Given the description of an element on the screen output the (x, y) to click on. 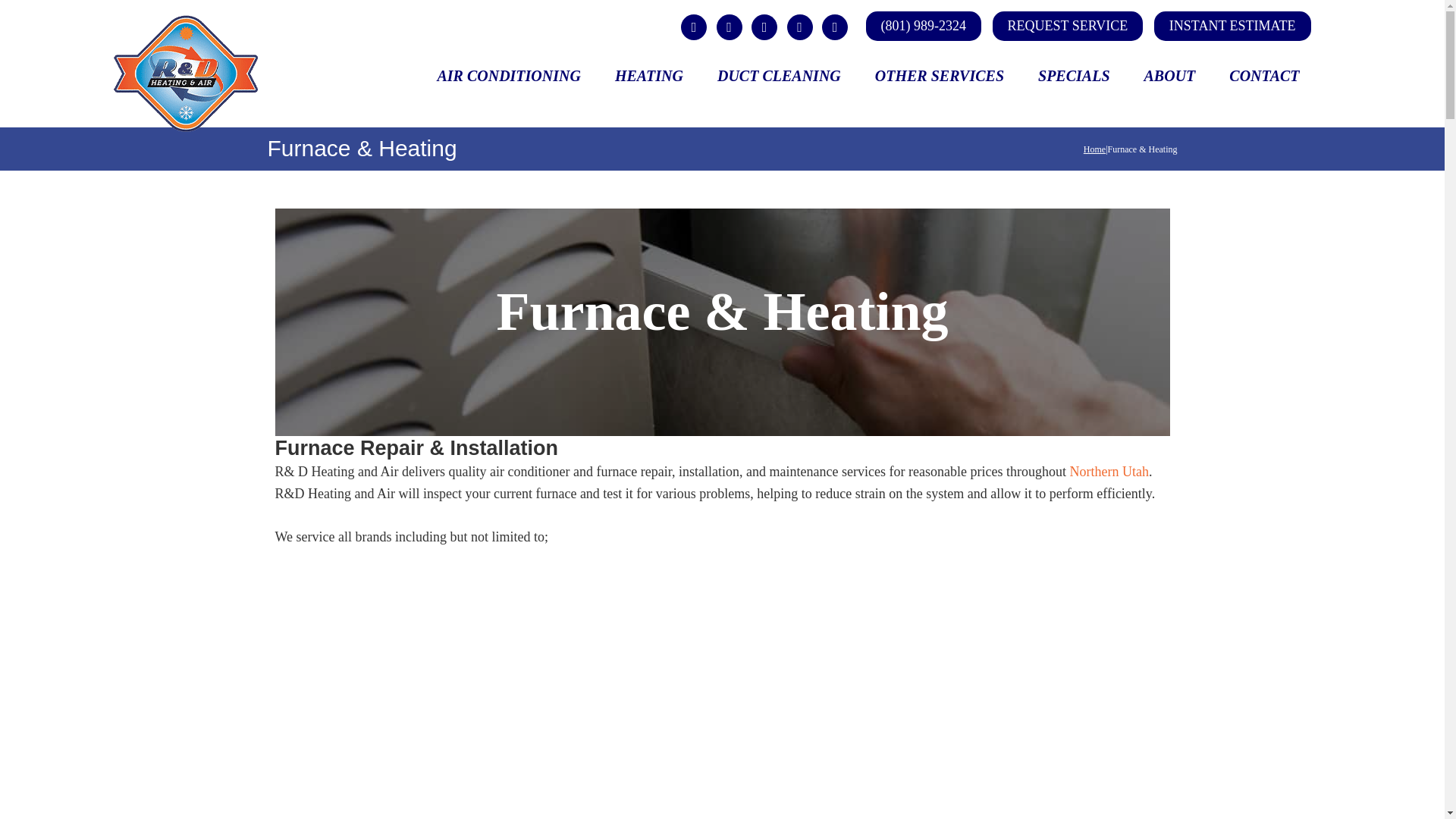
HEATING (648, 75)
AIR CONDITIONING (508, 75)
DUCT CLEANING (778, 75)
Home (1094, 149)
Default Label (764, 25)
twitter (729, 25)
OTHER SERVICES (939, 75)
ABOUT (1170, 75)
google-maps (799, 25)
Default Label (834, 25)
